Given the description of an element on the screen output the (x, y) to click on. 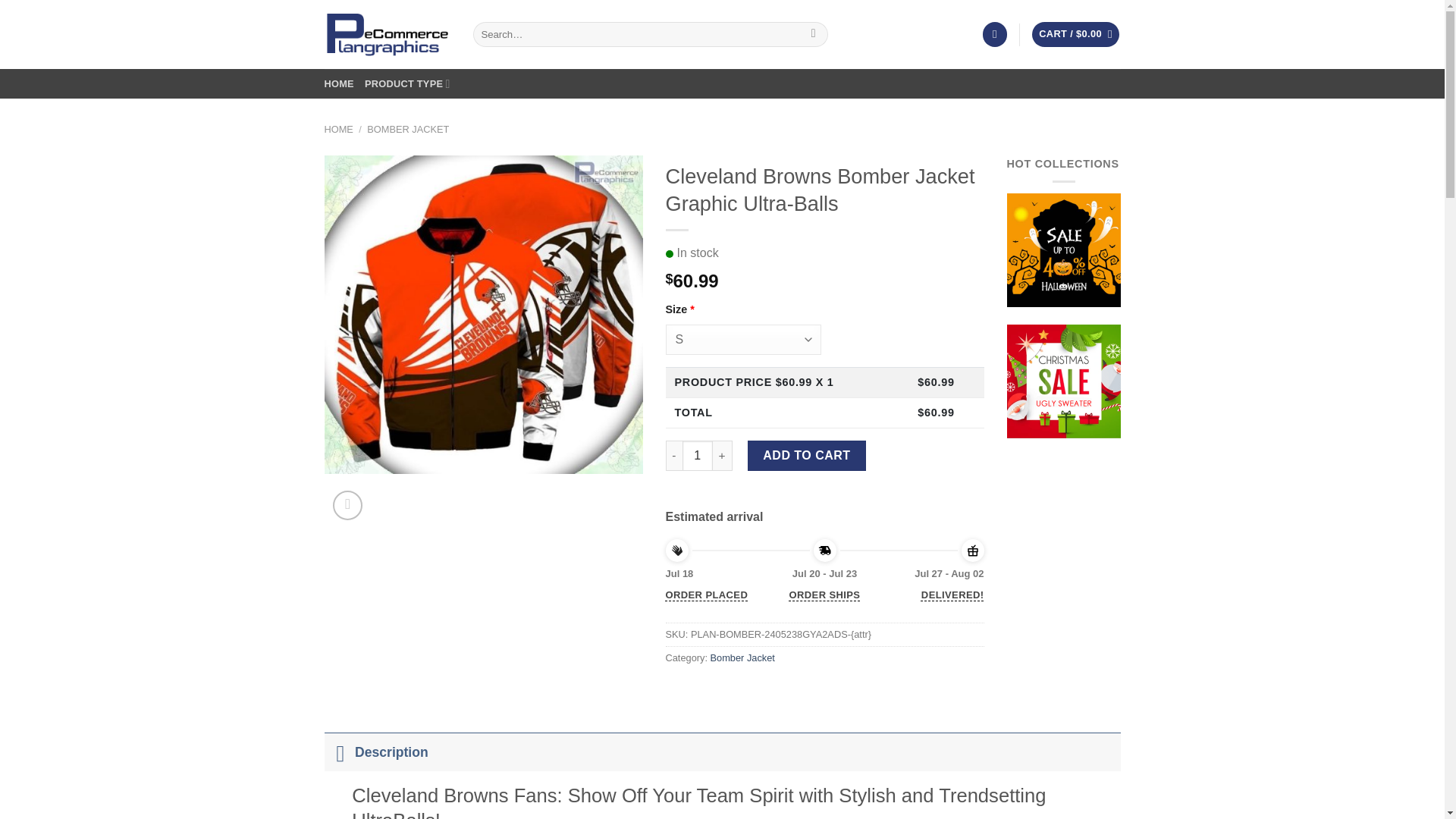
HOME (338, 83)
Plangraphics - Find The Boundaries. Push Through! (386, 34)
Cleveland Browns Bomber Jacket Graphic Ultra-Balls (483, 314)
ORDER SHIPS (824, 594)
Bomber Jacket (742, 657)
Zoom (347, 505)
ORDER PLACED (706, 594)
Description (722, 751)
HOME (338, 129)
1 (697, 455)
PRODUCT TYPE (407, 83)
ADD TO CART (807, 455)
Cart (1075, 34)
DELIVERED! (952, 594)
BOMBER JACKET (407, 129)
